Given the description of an element on the screen output the (x, y) to click on. 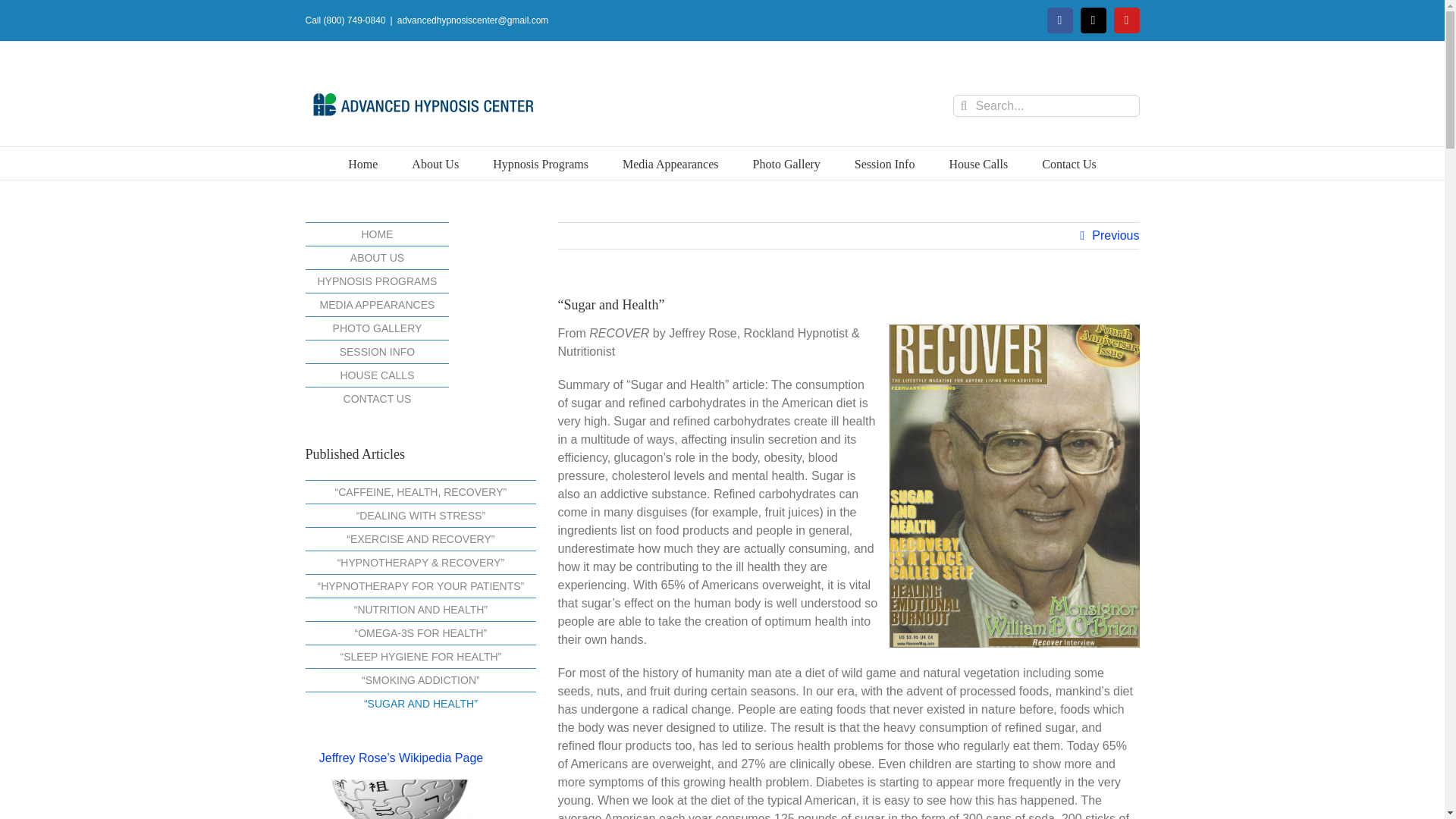
About Us (435, 163)
Home (362, 163)
Hypnosis Programs (540, 163)
Facebook (1059, 20)
Twitter (1093, 20)
YouTube (1126, 20)
Twitter (1093, 20)
YouTube (1126, 20)
Facebook (1059, 20)
